Given the description of an element on the screen output the (x, y) to click on. 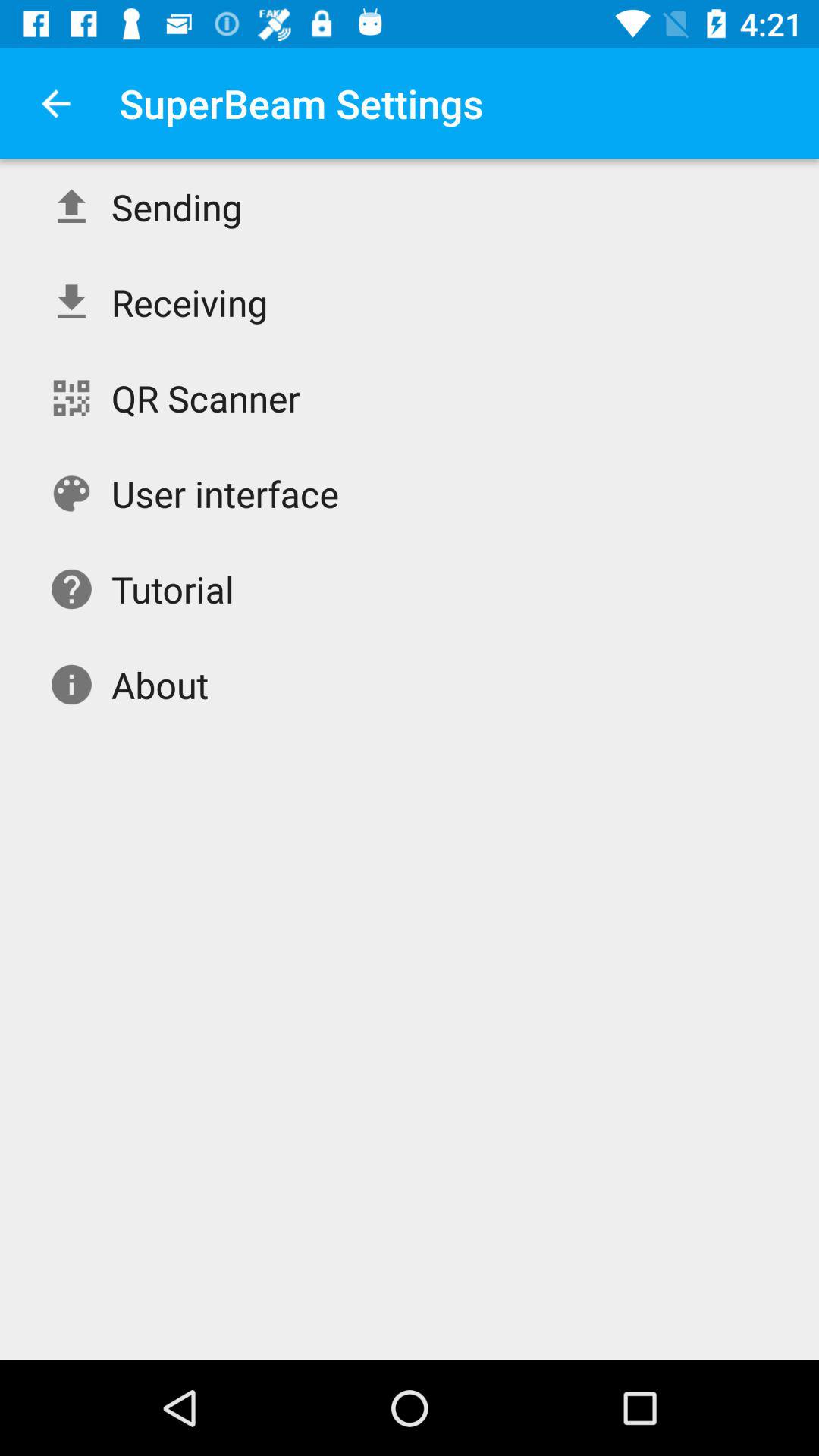
press icon below tutorial app (159, 684)
